Given the description of an element on the screen output the (x, y) to click on. 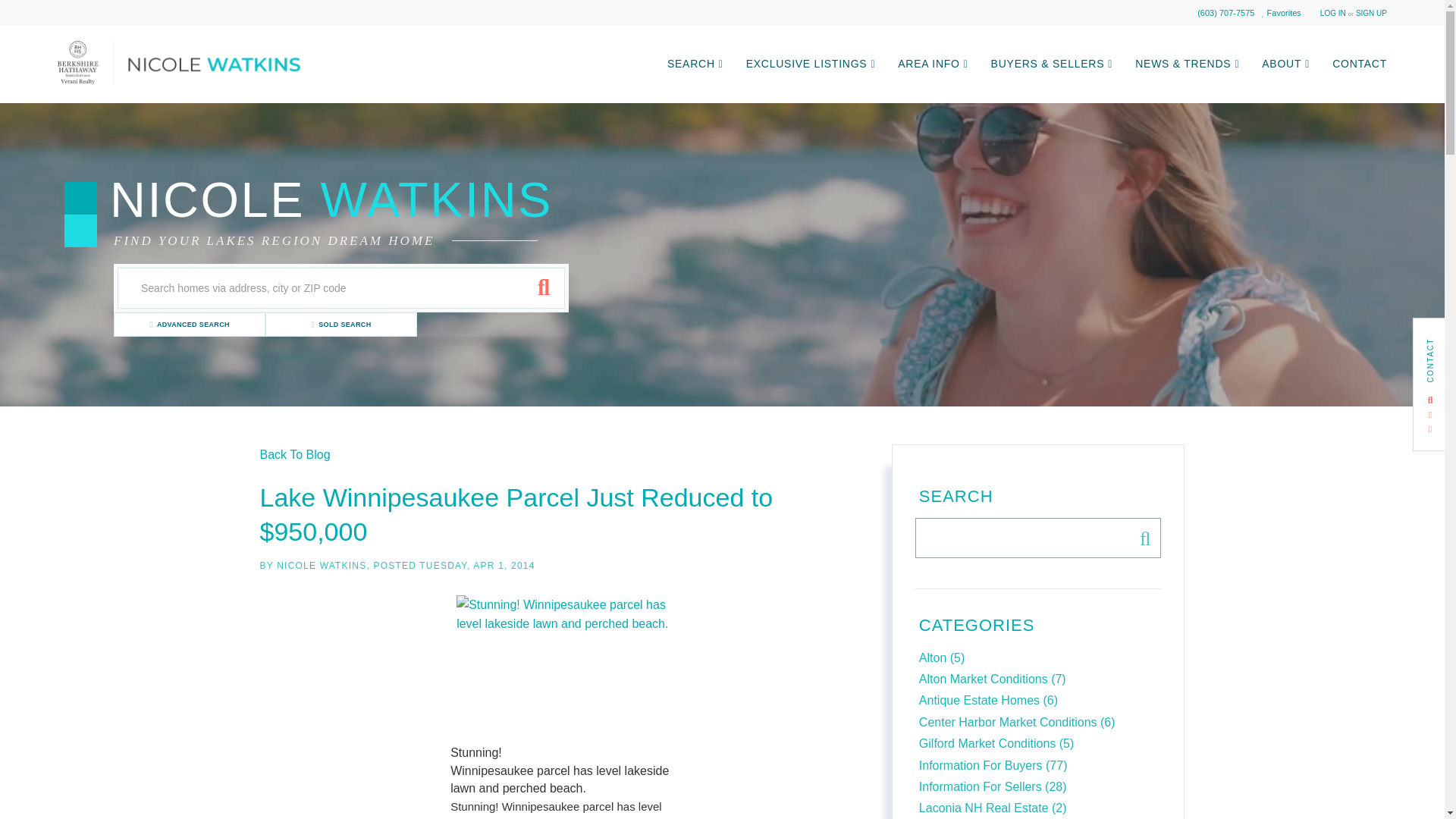
SIGN UP (1371, 13)
Favorites (1281, 12)
LOG IN (1332, 13)
AREA INFO (933, 64)
SEARCH (694, 64)
Search (1140, 537)
EXCLUSIVE LISTINGS (810, 64)
